Given the description of an element on the screen output the (x, y) to click on. 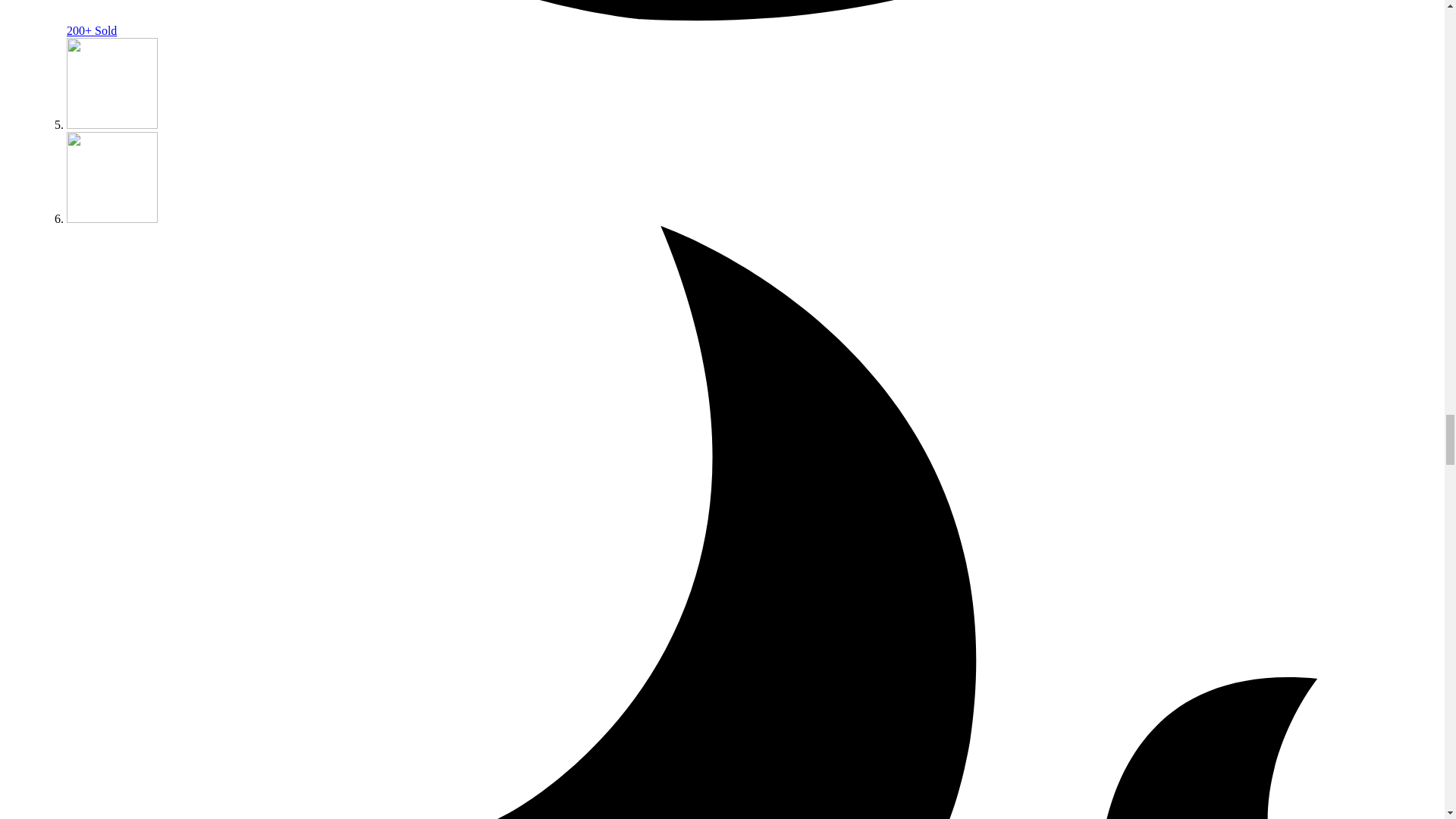
3-Pack: Nautica Women's Active Tank Tops (111, 124)
